Given the description of an element on the screen output the (x, y) to click on. 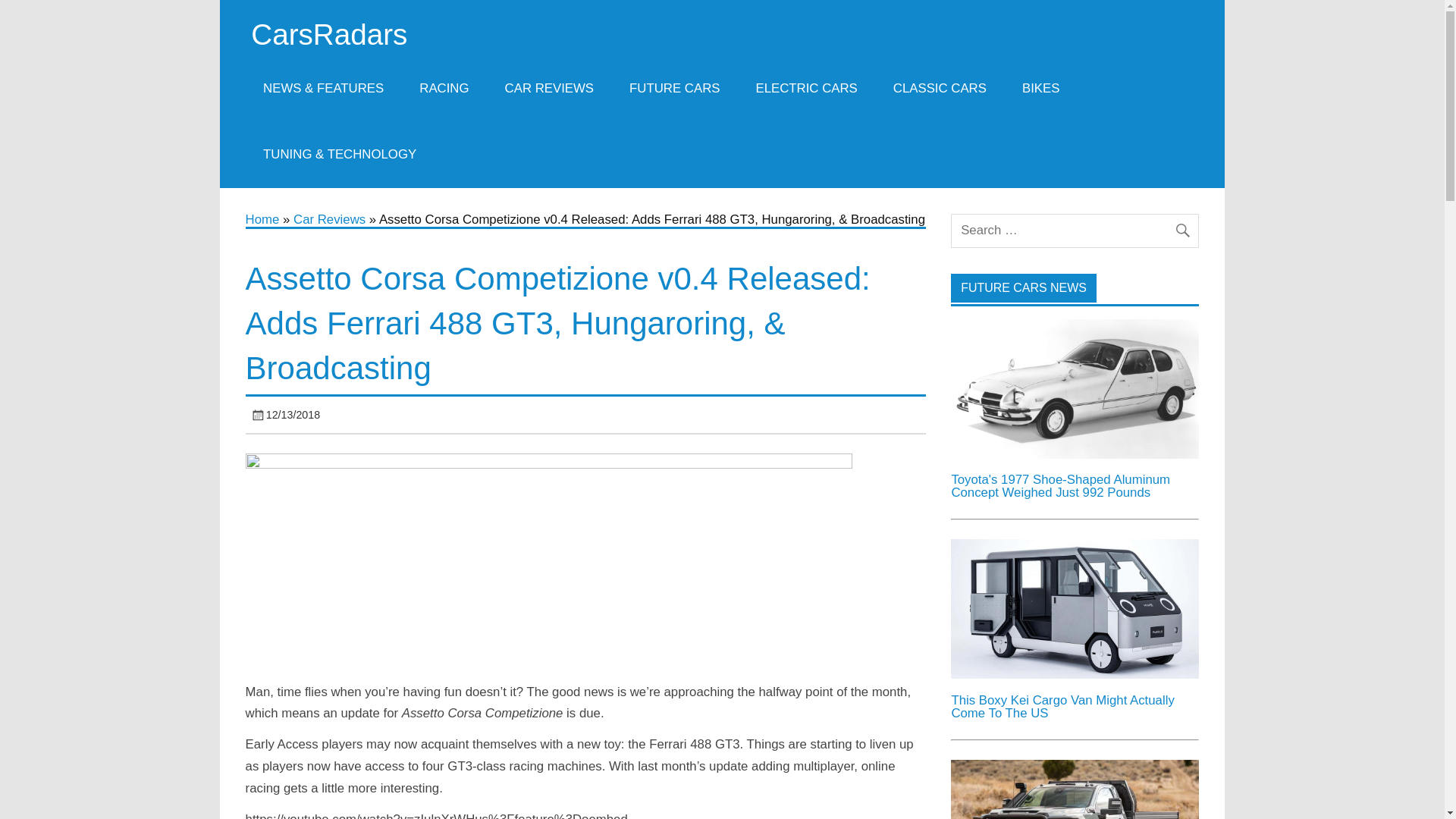
This Boxy Kei Cargo Van Might Actually Come To The US (1074, 674)
BIKES (1040, 88)
RACING (443, 88)
Home (262, 219)
Car Reviews (329, 219)
CarsRadars (328, 34)
12:11 am (293, 414)
FUTURE CARS (674, 88)
CLASSIC CARS (939, 88)
This Boxy Kei Cargo Van Might Actually Come To The US (1061, 706)
CAR REVIEWS (548, 88)
ELECTRIC CARS (806, 88)
